Given the description of an element on the screen output the (x, y) to click on. 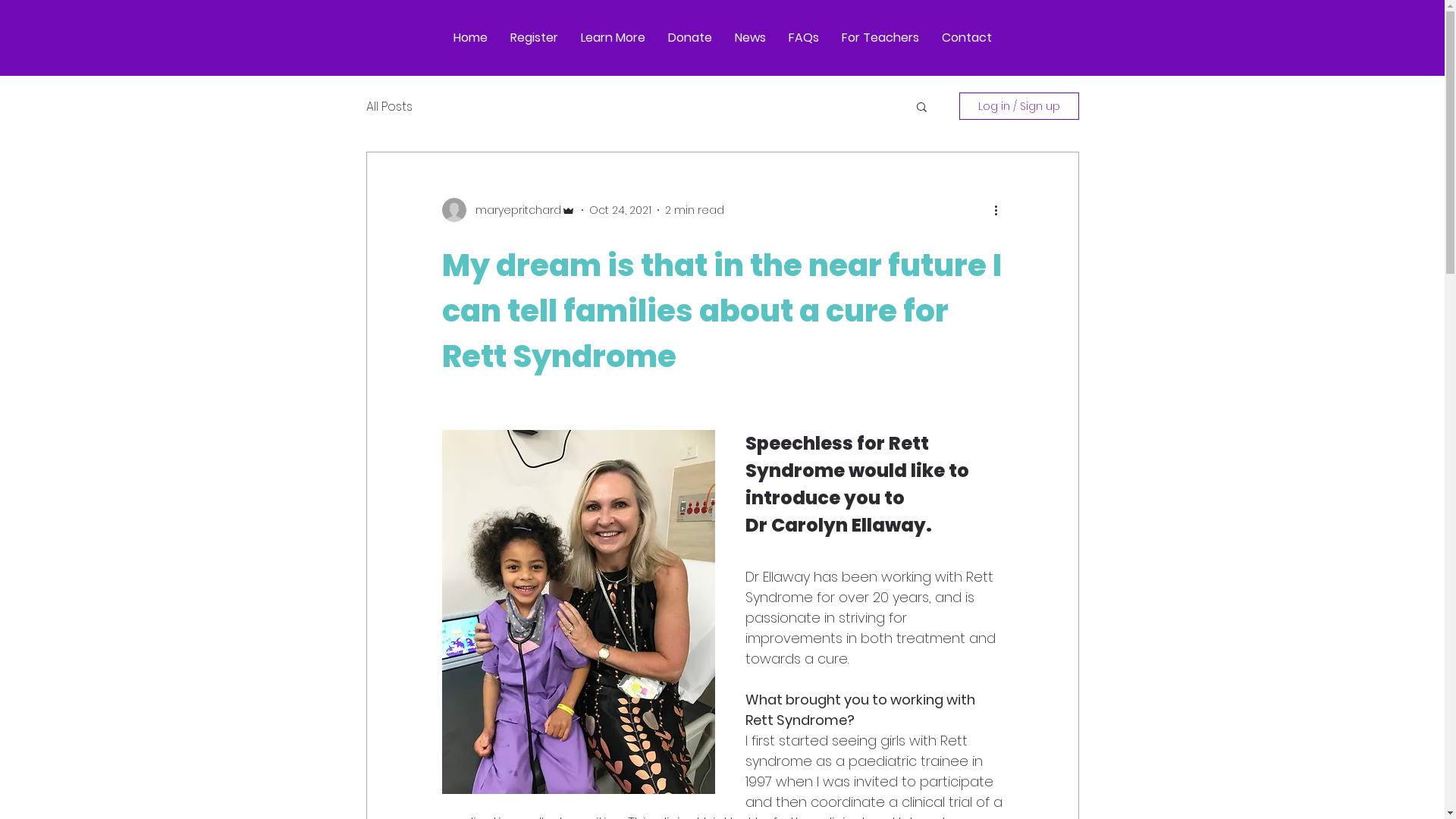
Learn More Element type: text (611, 37)
Contact Element type: text (965, 37)
Donate Element type: text (689, 37)
Register Element type: text (533, 37)
News Element type: text (750, 37)
FAQs Element type: text (802, 37)
All Posts Element type: text (388, 106)
For Teachers Element type: text (879, 37)
Home Element type: text (469, 37)
Log in / Sign up Element type: text (1018, 105)
